Given the description of an element on the screen output the (x, y) to click on. 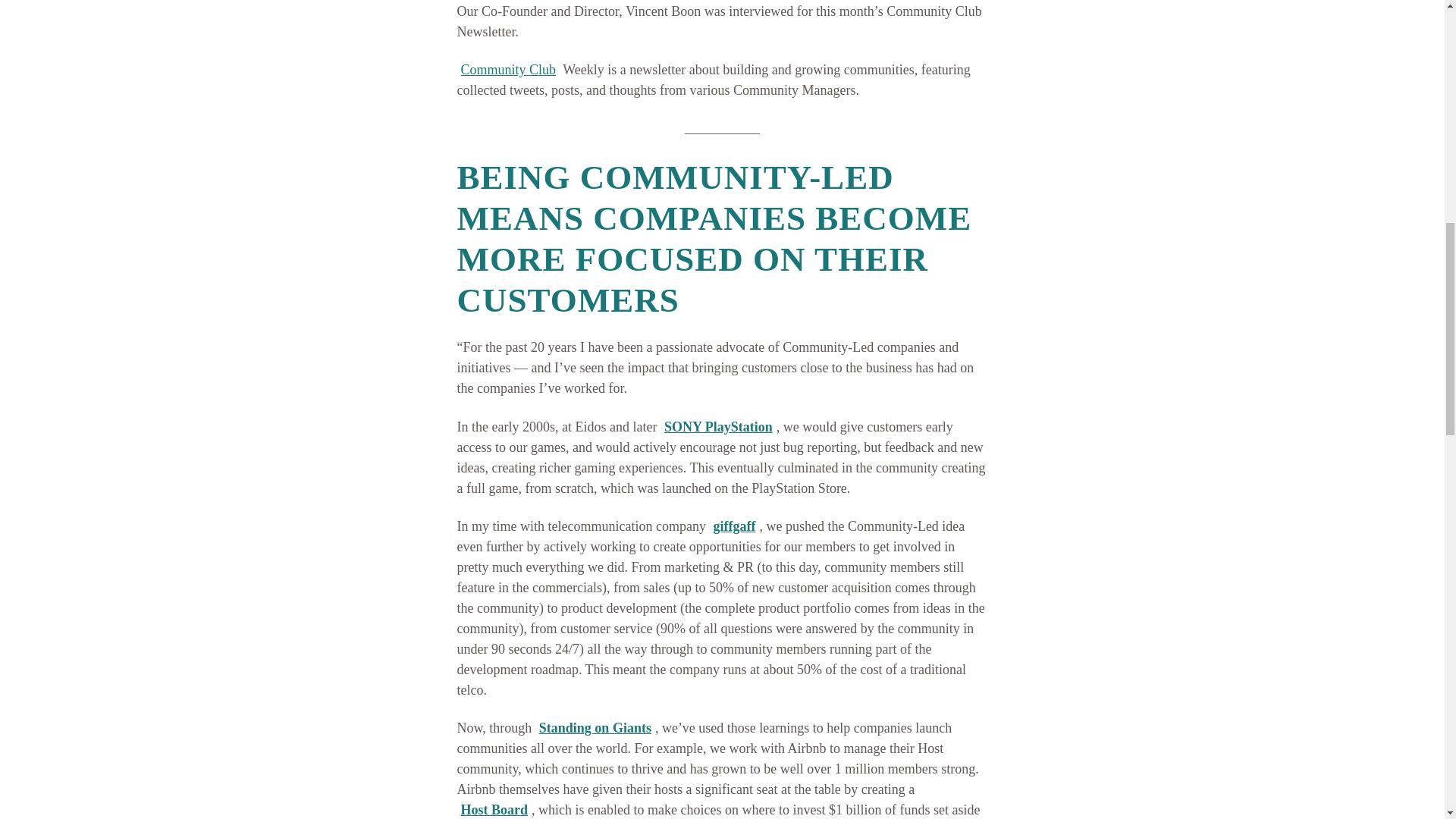
SONY PlayStation (718, 426)
Community Club (508, 69)
Standing on Giants (595, 728)
Host Board (494, 809)
giffgaff (733, 526)
